Given the description of an element on the screen output the (x, y) to click on. 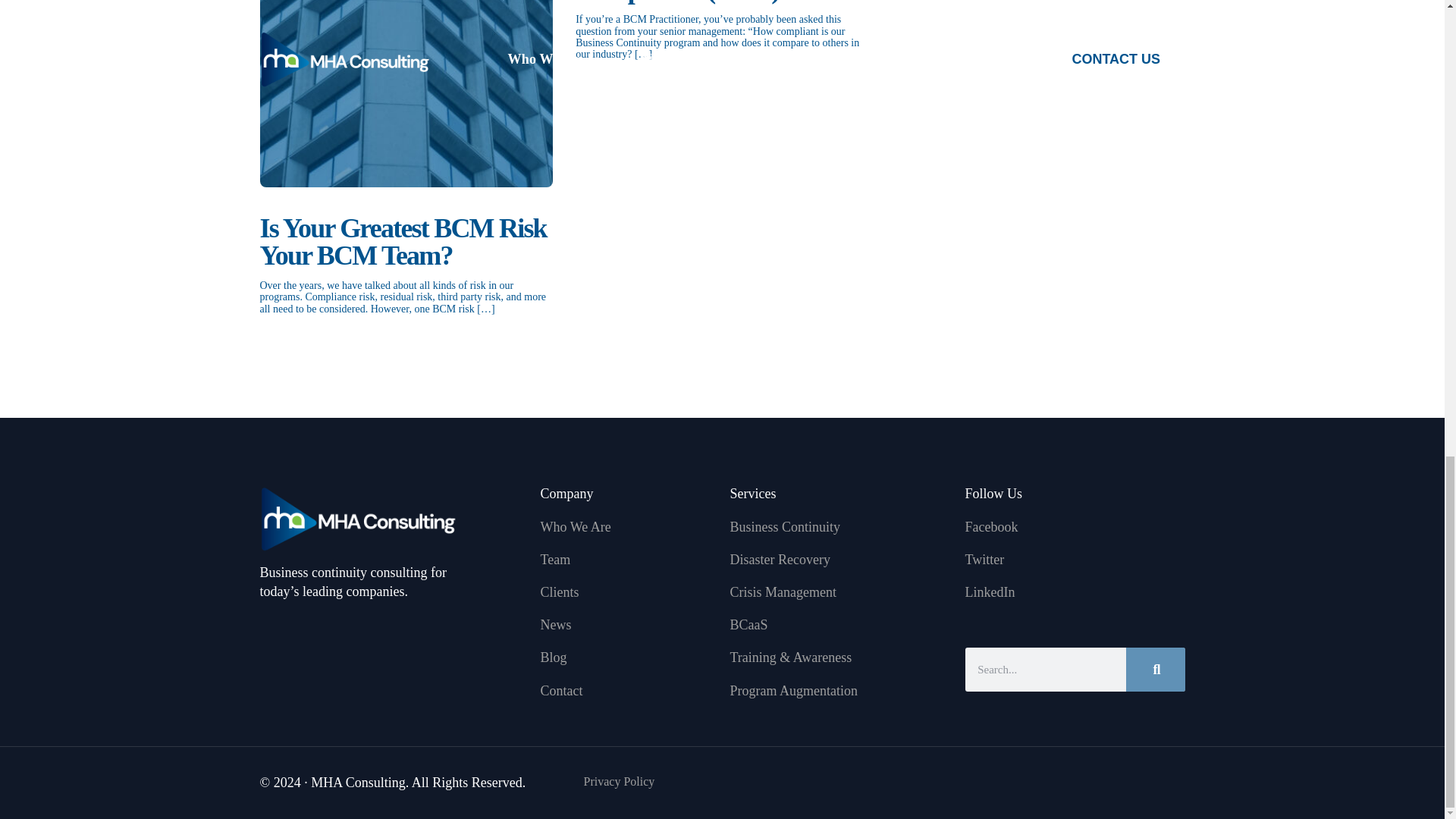
View Post: Is Your Greatest BCM Risk Your BCM Team?  (406, 241)
Clients (627, 592)
Blog (627, 657)
Program Augmentation (839, 691)
Is Your Greatest BCM Risk Your BCM Team? (406, 241)
 View Post: Is Your Greatest BCM Risk Your BCM Team? (406, 93)
Contact (627, 691)
Facebook (1074, 527)
News (627, 624)
LinkedIn (1074, 592)
Team (627, 559)
Business Continuity (839, 527)
Who We Are (627, 527)
Twitter (1074, 559)
Disaster Recovery (839, 559)
